Given the description of an element on the screen output the (x, y) to click on. 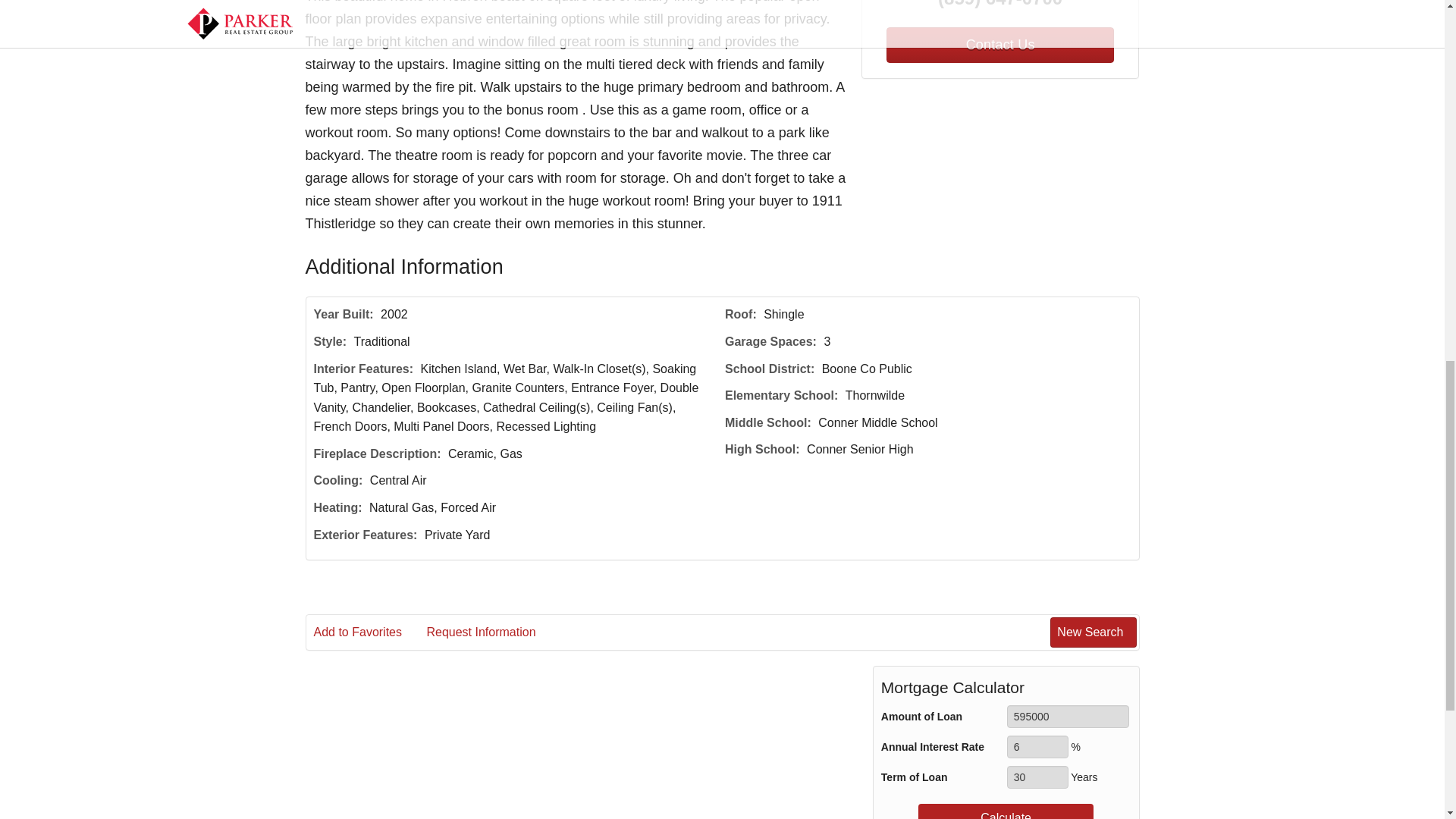
Contact Us (999, 45)
6 (1037, 746)
595000 (1068, 716)
30 (1037, 776)
